Given the description of an element on the screen output the (x, y) to click on. 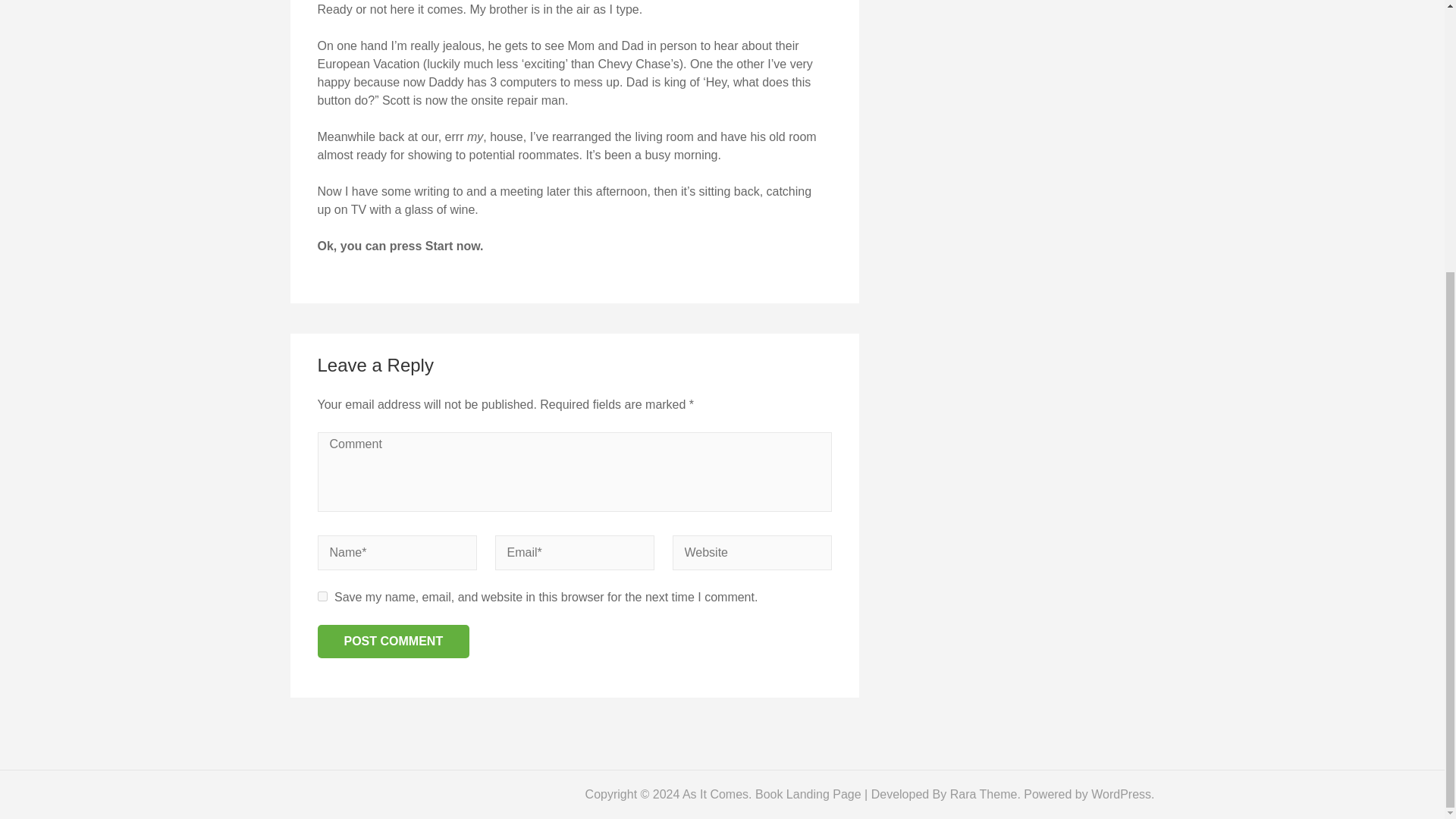
Rara Theme (983, 793)
yes (321, 596)
WordPress (1120, 793)
Post Comment (392, 641)
Post Comment (392, 641)
As It Comes (715, 793)
